Given the description of an element on the screen output the (x, y) to click on. 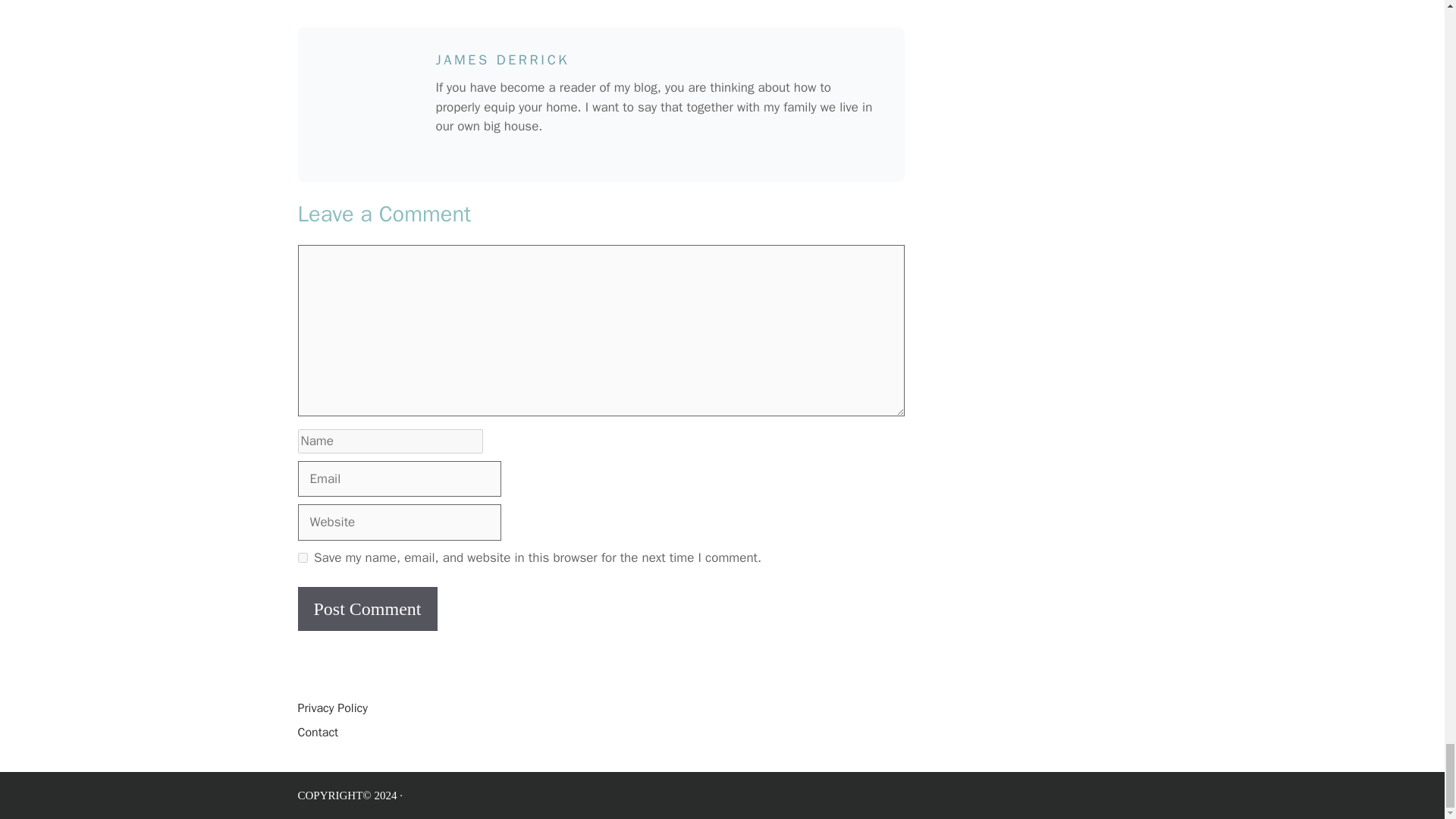
yes (302, 557)
Post Comment (366, 608)
Post Comment (366, 608)
JAMES DERRICK (502, 59)
